Given the description of an element on the screen output the (x, y) to click on. 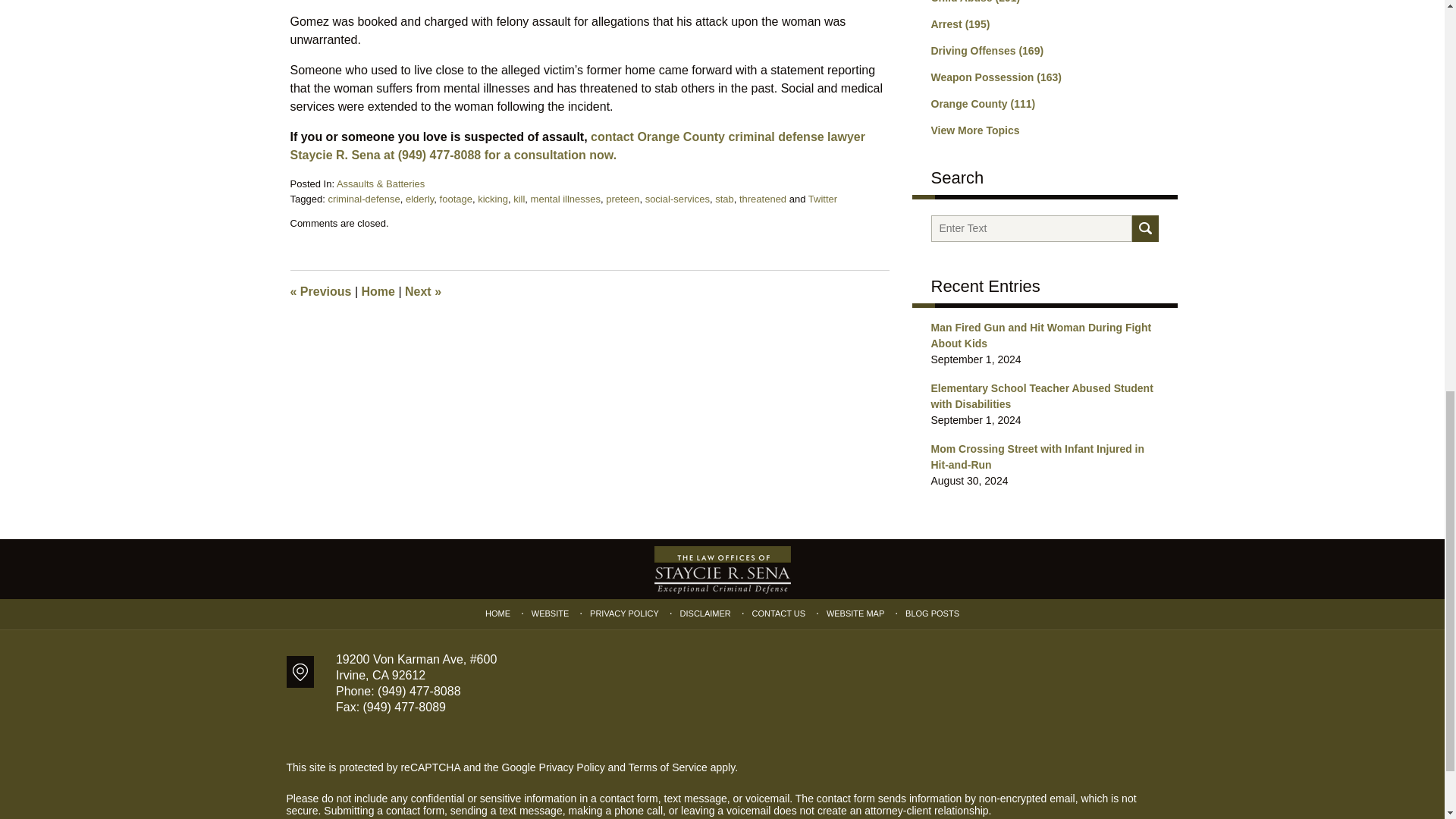
View all posts tagged with elderly (419, 198)
View all posts tagged with mental illnesses (566, 198)
preteen (622, 198)
View all posts tagged with social-services (677, 198)
social-services (677, 198)
Twitter (822, 198)
Home (377, 291)
View all posts tagged with preteen (622, 198)
kicking (492, 198)
Man Charged for Assaulting Child Rapist in the Act (422, 291)
